Given the description of an element on the screen output the (x, y) to click on. 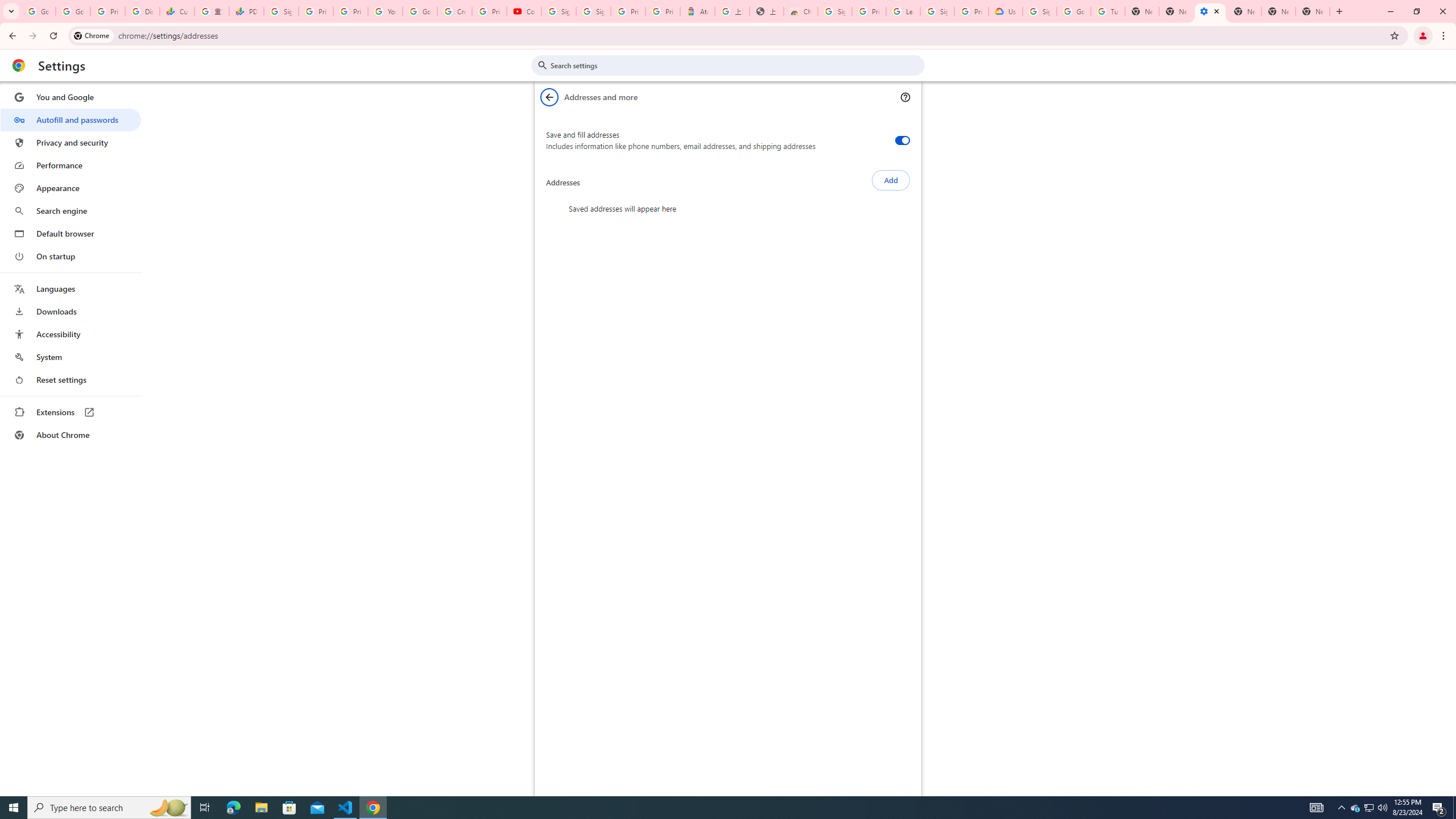
Appearance (70, 187)
You and Google (70, 96)
Extensions (70, 412)
Atour Hotel - Google hotels (697, 11)
